Given the description of an element on the screen output the (x, y) to click on. 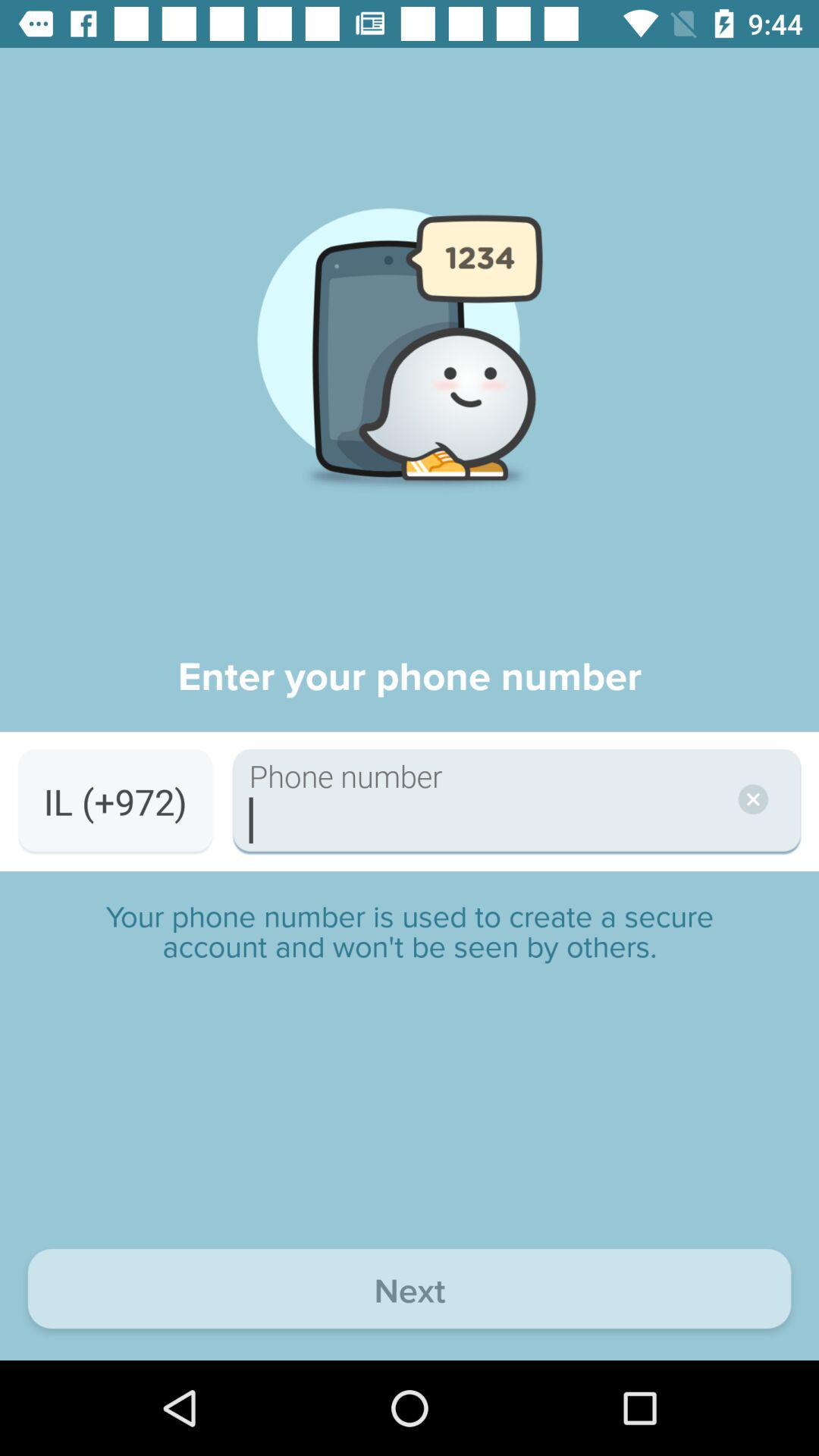
select the il (+972) item (114, 801)
